Given the description of an element on the screen output the (x, y) to click on. 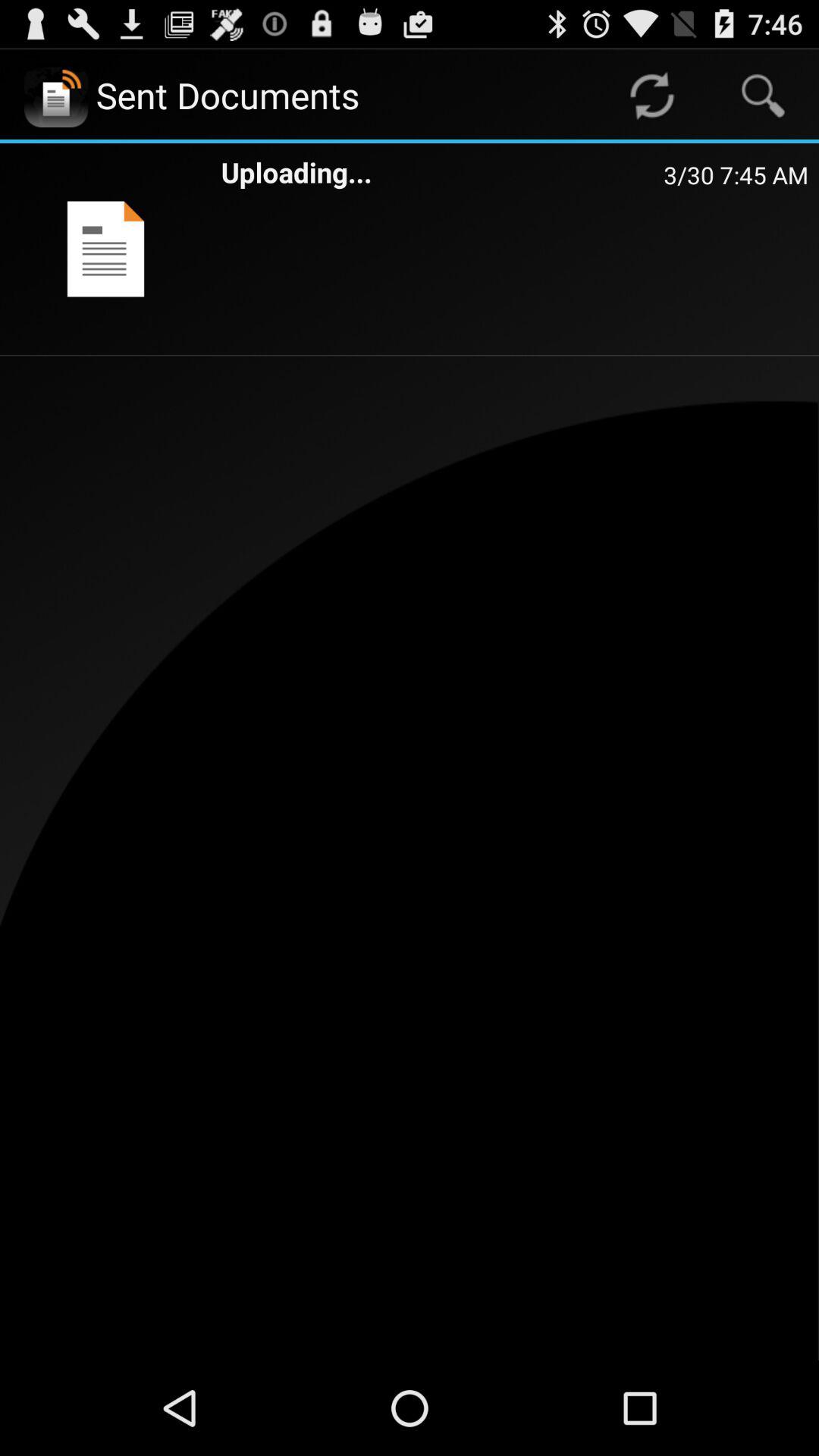
swipe until 3 30 7 app (735, 174)
